Given the description of an element on the screen output the (x, y) to click on. 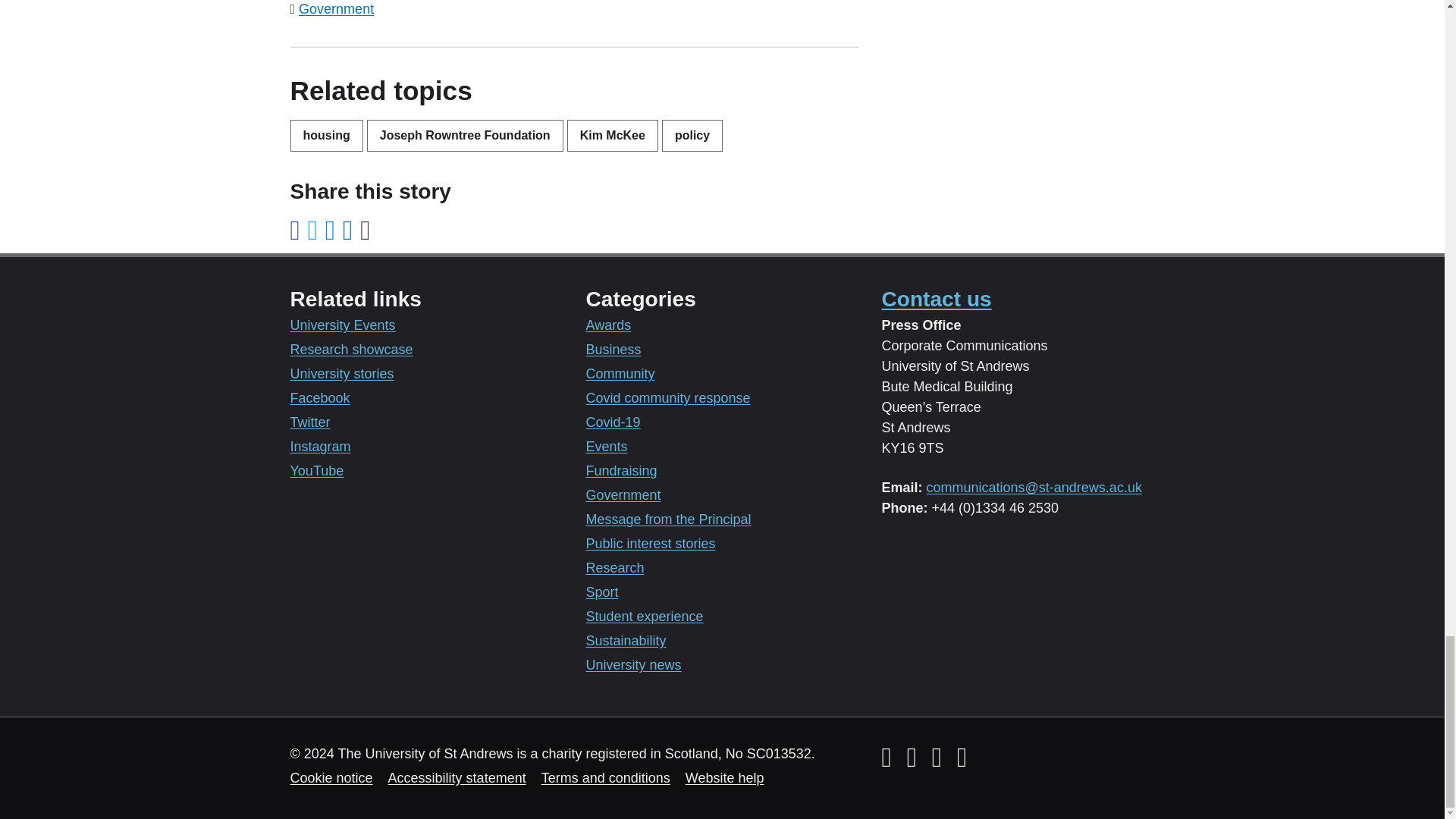
housing (325, 135)
policy (692, 135)
Government (336, 8)
Kim McKee (612, 135)
Joseph Rowntree Foundation (464, 135)
